Given the description of an element on the screen output the (x, y) to click on. 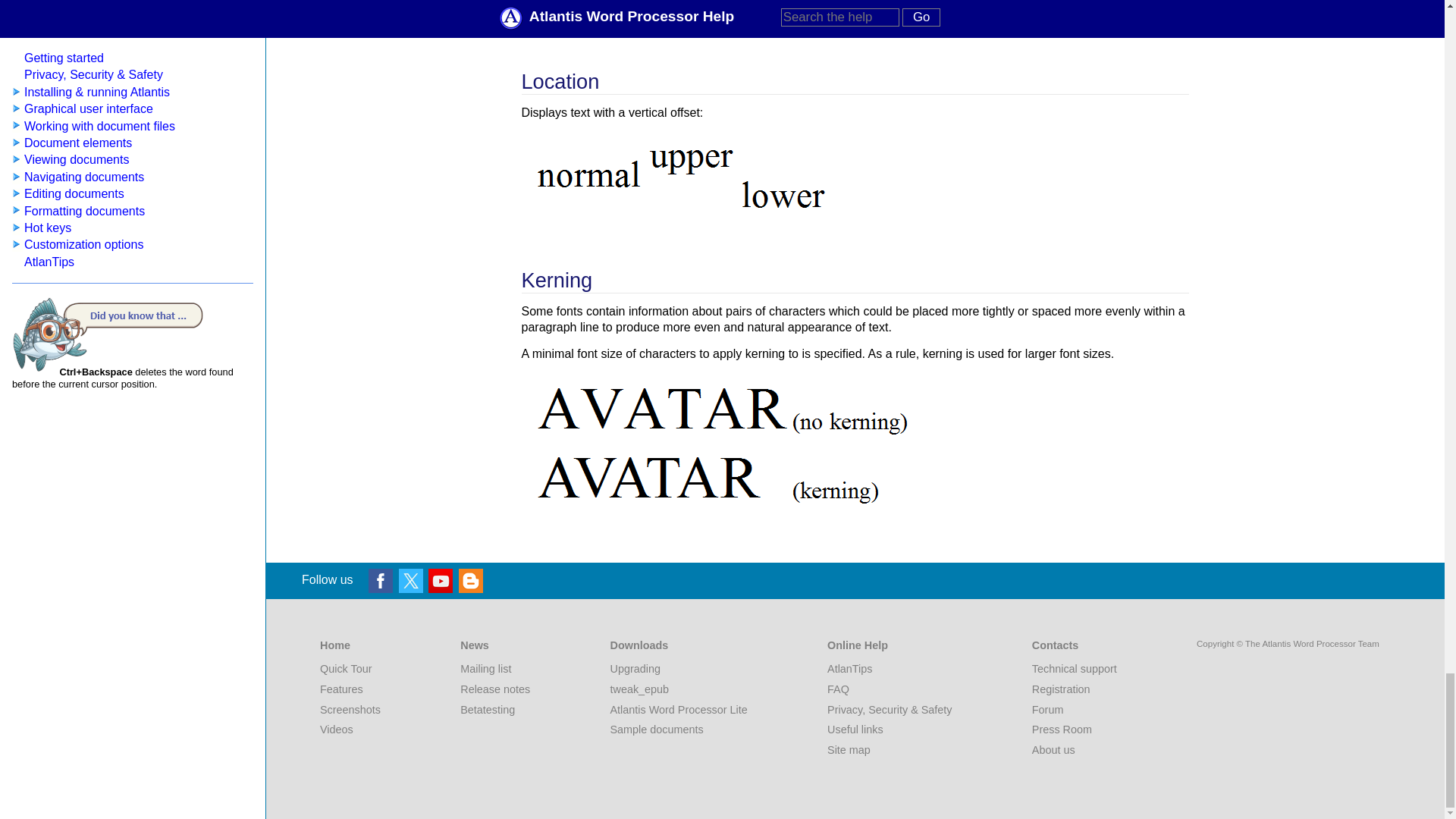
Blog (470, 579)
YouTube (440, 579)
Facebook (380, 579)
Online Help (889, 643)
X (410, 579)
